Given the description of an element on the screen output the (x, y) to click on. 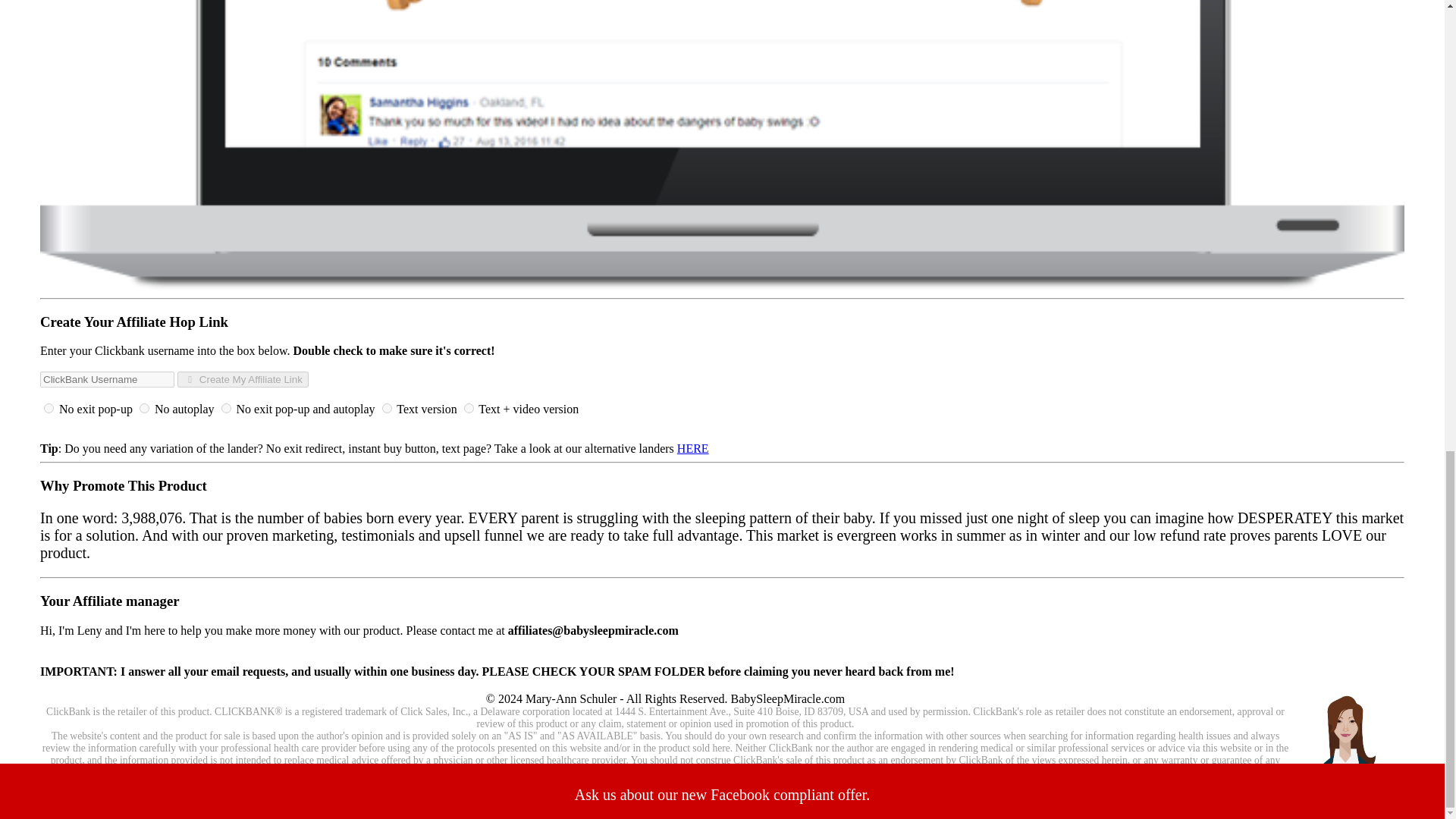
Terms (603, 685)
Create My Affiliate Link (242, 379)
Privacy (495, 685)
on (226, 408)
Affiliates (899, 685)
Shipping (550, 685)
Scientific References (681, 685)
on (469, 408)
Contact Us (769, 685)
Disclaimer (836, 685)
on (144, 408)
on (386, 408)
Get Started (435, 685)
on (48, 408)
HERE (693, 448)
